Given the description of an element on the screen output the (x, y) to click on. 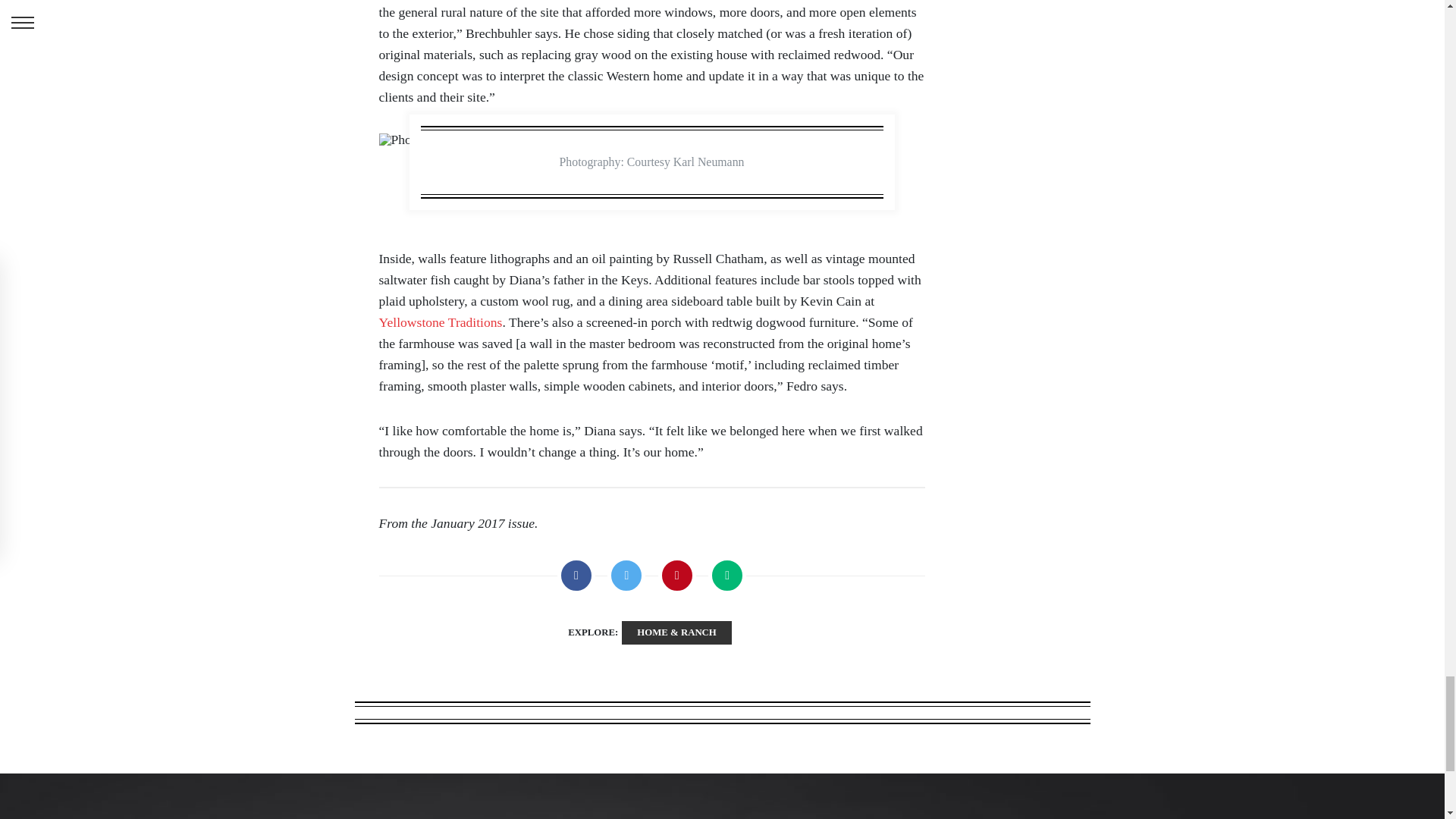
Share on Facebook (576, 575)
Share by Email (726, 575)
Tweet This Post (626, 575)
